Given the description of an element on the screen output the (x, y) to click on. 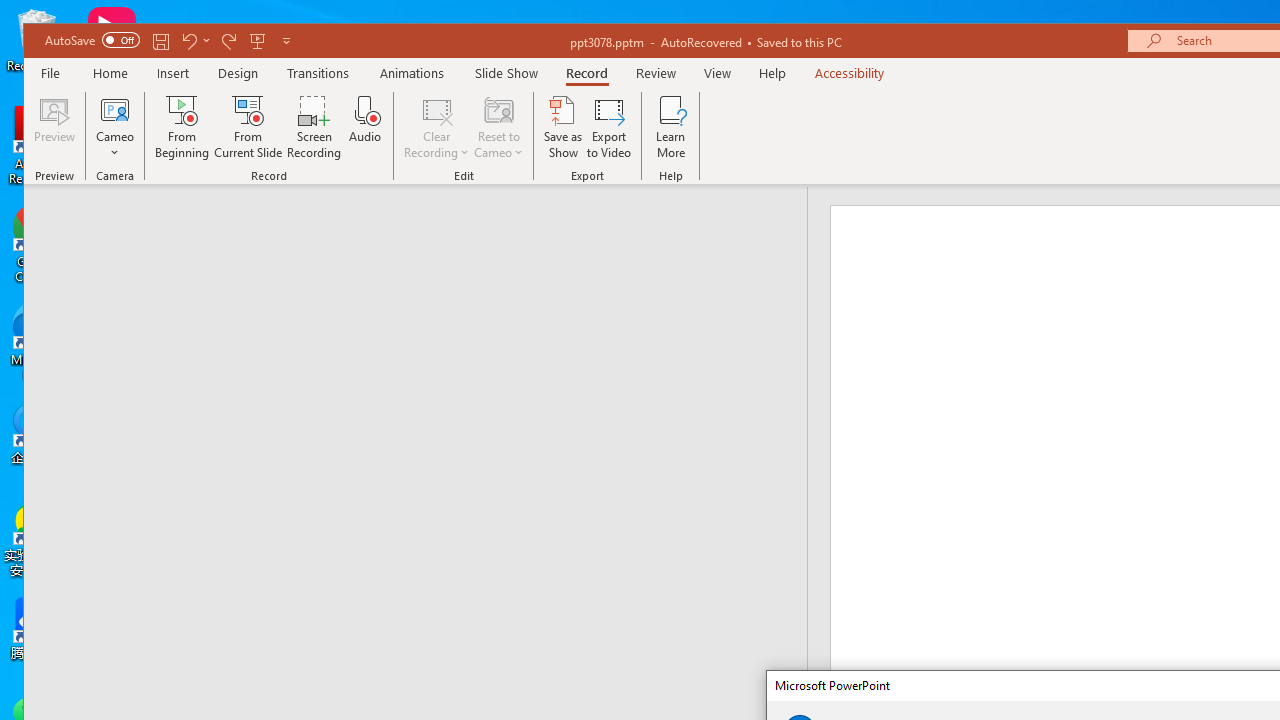
Export to Video (608, 127)
Learn More (671, 127)
